Given the description of an element on the screen output the (x, y) to click on. 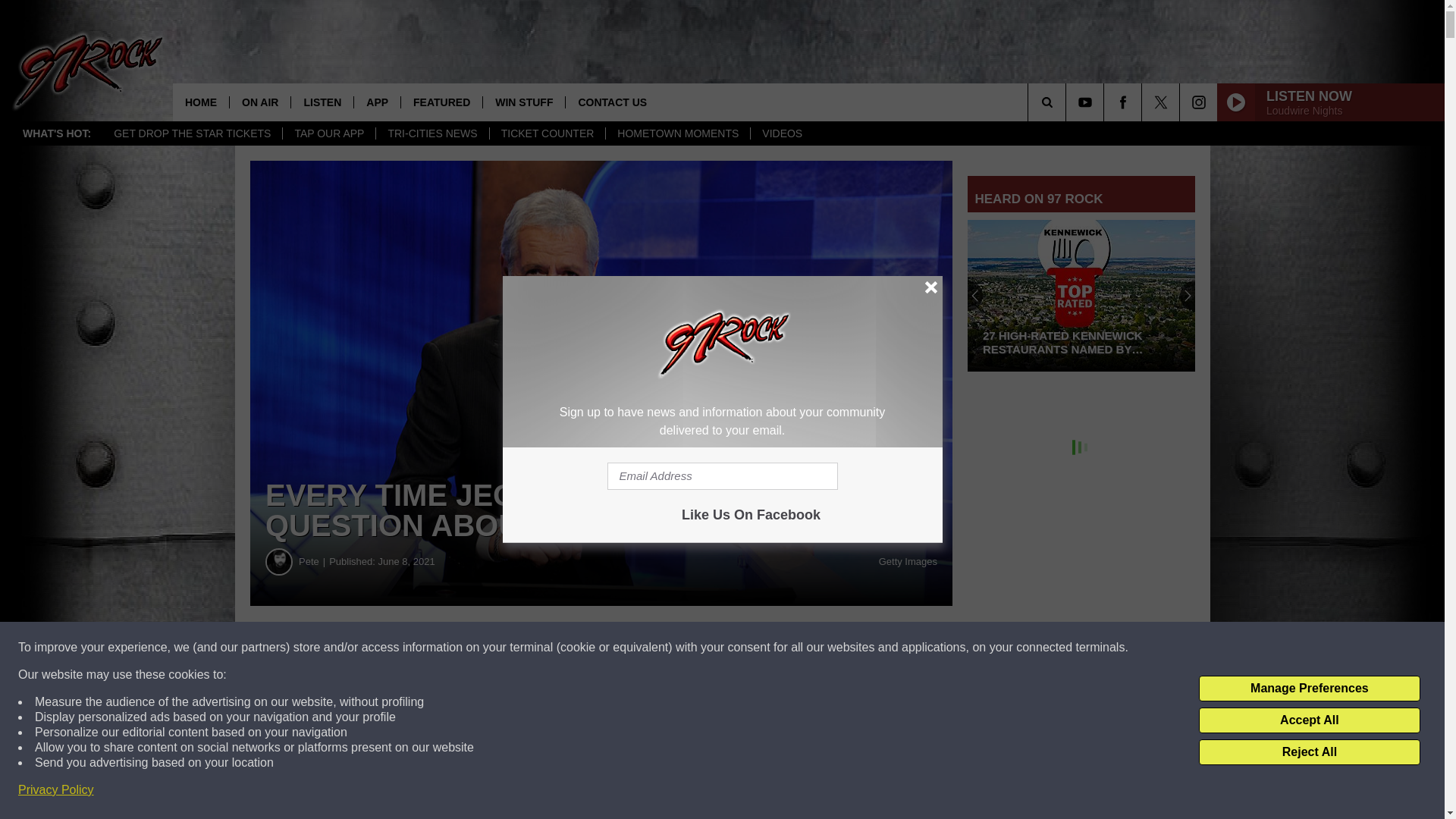
VIDEOS (781, 133)
GET DROP THE STAR TICKETS (191, 133)
Reject All (1309, 751)
SEARCH (1068, 102)
TRI-CITIES NEWS (431, 133)
TICKET COUNTER (547, 133)
Share on Twitter (741, 647)
Accept All (1309, 720)
FEATURED (440, 102)
APP (376, 102)
Email Address (722, 475)
TAP OUR APP (328, 133)
SEARCH (1068, 102)
Manage Preferences (1309, 688)
HOMETOWN MOMENTS (677, 133)
